Given the description of an element on the screen output the (x, y) to click on. 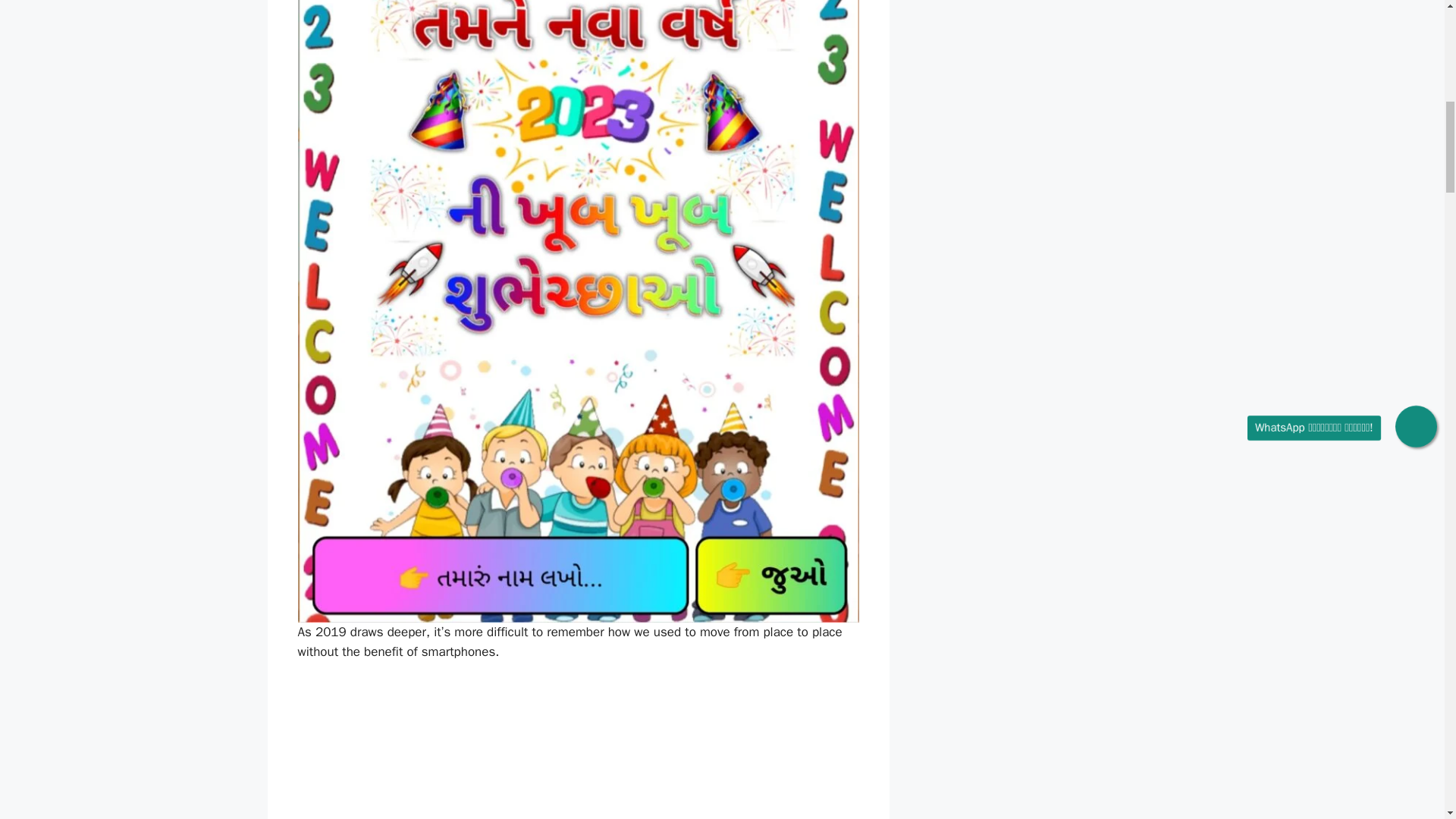
Advertisement (578, 749)
